Given the description of an element on the screen output the (x, y) to click on. 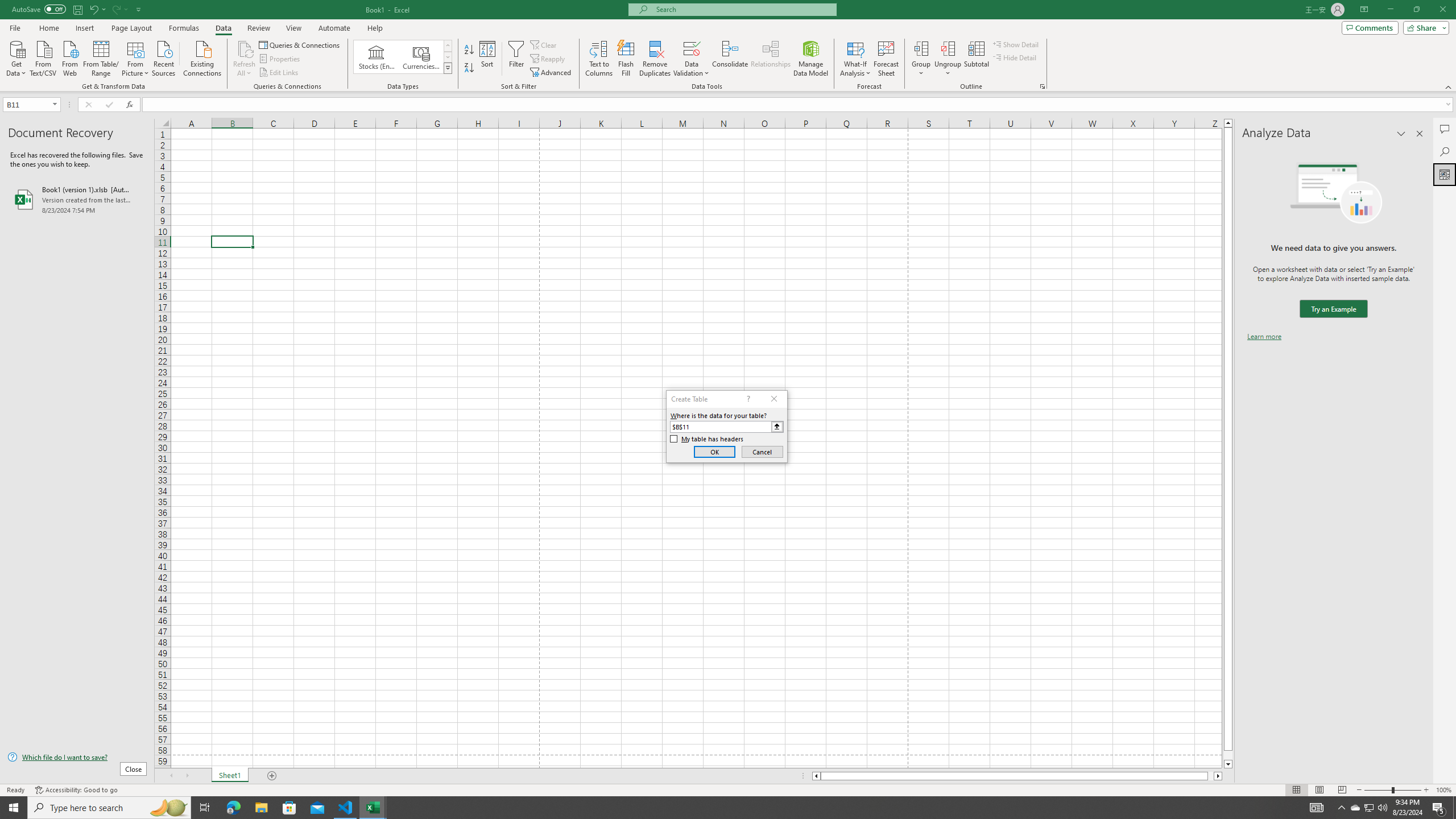
Recent Sources (163, 57)
Remove Duplicates (654, 58)
Clear (544, 44)
Reapply (548, 58)
Group and Outline Settings (1042, 85)
From Text/CSV (43, 57)
